Given the description of an element on the screen output the (x, y) to click on. 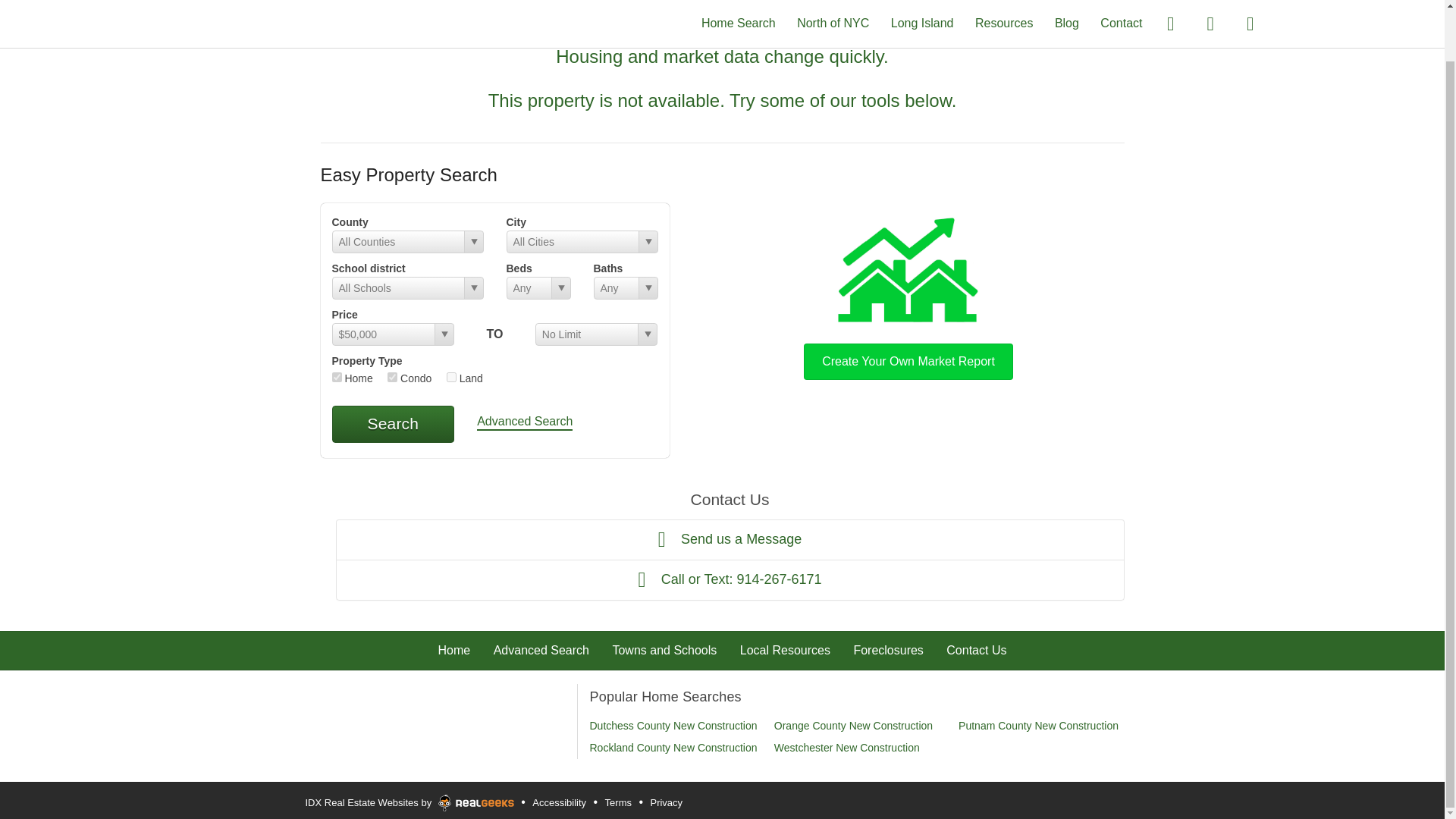
Orange County New Construction (853, 725)
Search (392, 423)
Send us a Message (729, 539)
Contact Us (976, 649)
res (336, 377)
Terms (617, 802)
Rockland County New Construction (673, 747)
Towns and Schools (663, 649)
Call or Text: 914-267-6171 (729, 579)
Search (392, 423)
